Given the description of an element on the screen output the (x, y) to click on. 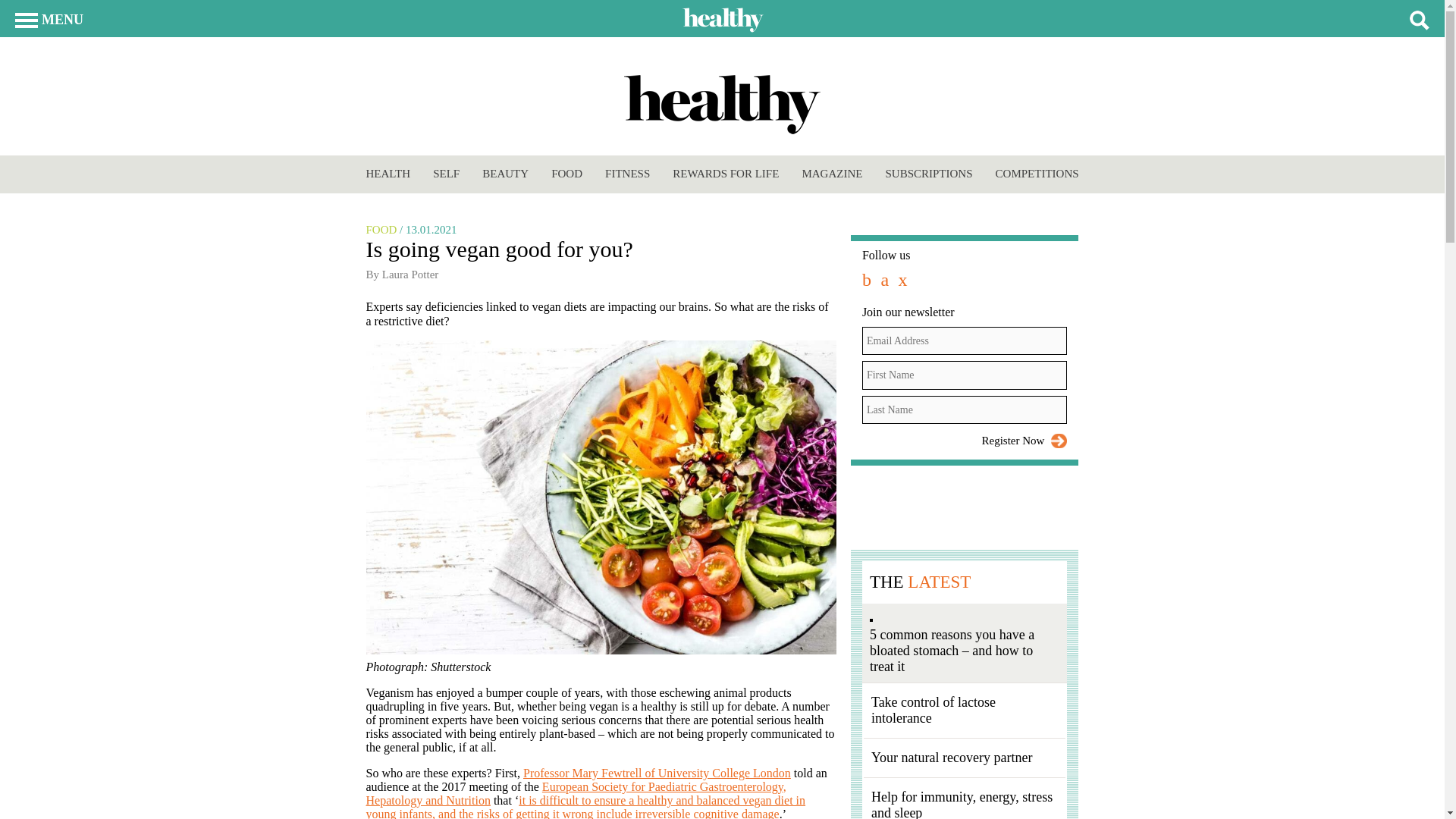
FOOD (566, 173)
FITNESS (627, 173)
Take control of lactose intolerance (932, 709)
Help for immunity, energy, stress and sleep (961, 804)
Your natural recovery partner (951, 757)
HEALTH (387, 173)
MAGAZINE (831, 173)
SUBSCRIPTIONS (928, 173)
